Given the description of an element on the screen output the (x, y) to click on. 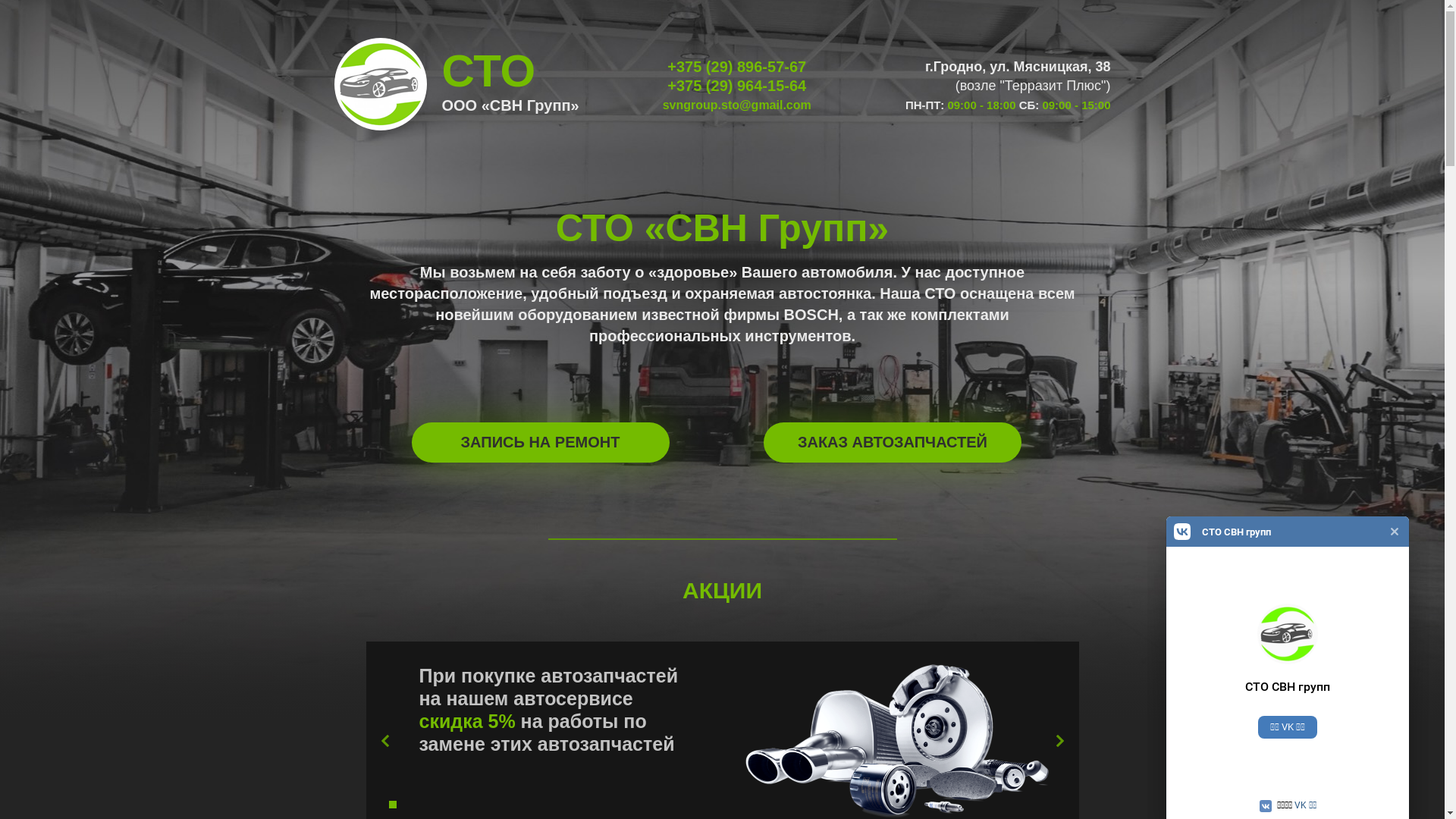
+375 (29) 964-15-64 Element type: text (736, 85)
+375 (29) 896-57-67 Element type: text (736, 66)
svngroup.sto@gmail.com Element type: text (736, 104)
